Given the description of an element on the screen output the (x, y) to click on. 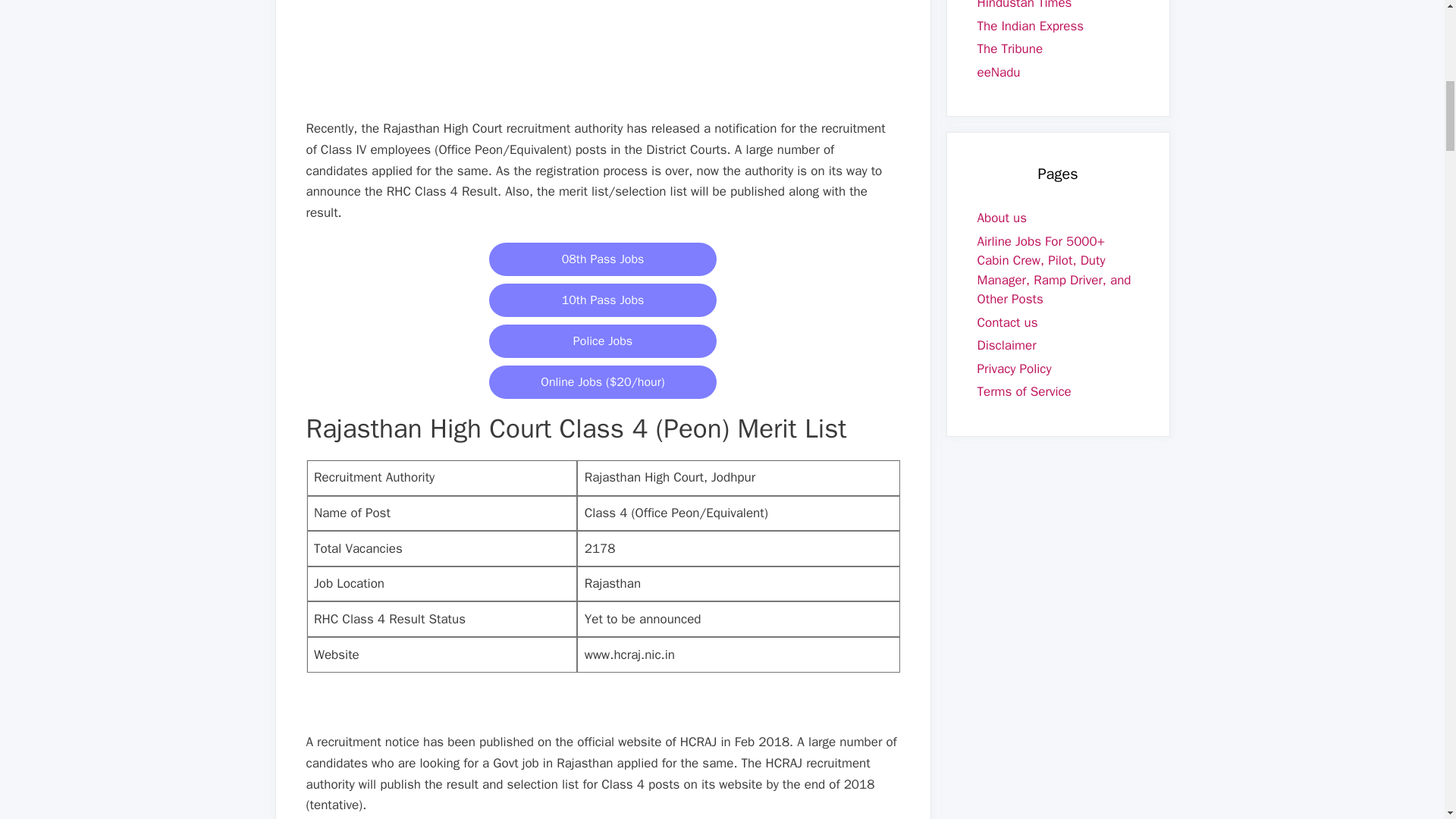
08th Pass Jobs (602, 259)
10th Pass Jobs (602, 299)
Advertisement (608, 56)
Police Jobs (602, 340)
10th Pass Jobs (602, 299)
Police Jobs (602, 340)
08th Pass Jobs (602, 258)
